Given the description of an element on the screen output the (x, y) to click on. 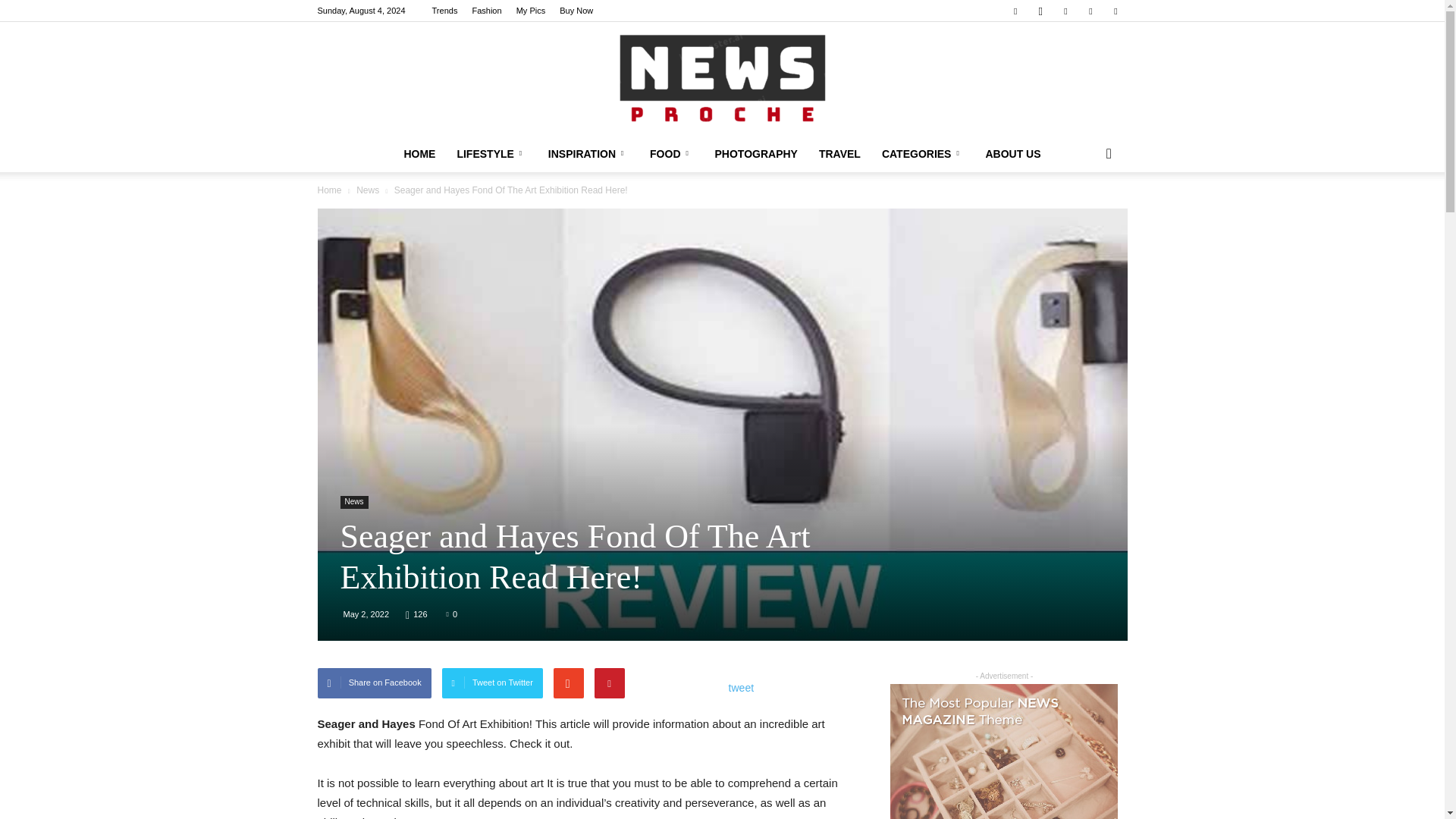
My Pics (531, 10)
Buy Now (575, 10)
Pinterest (1065, 10)
Tumblr (1090, 10)
Fashion (485, 10)
LIFESTYLE (491, 153)
Instagram (1040, 10)
Facebook (1015, 10)
HOME (419, 153)
Trends (445, 10)
